Given the description of an element on the screen output the (x, y) to click on. 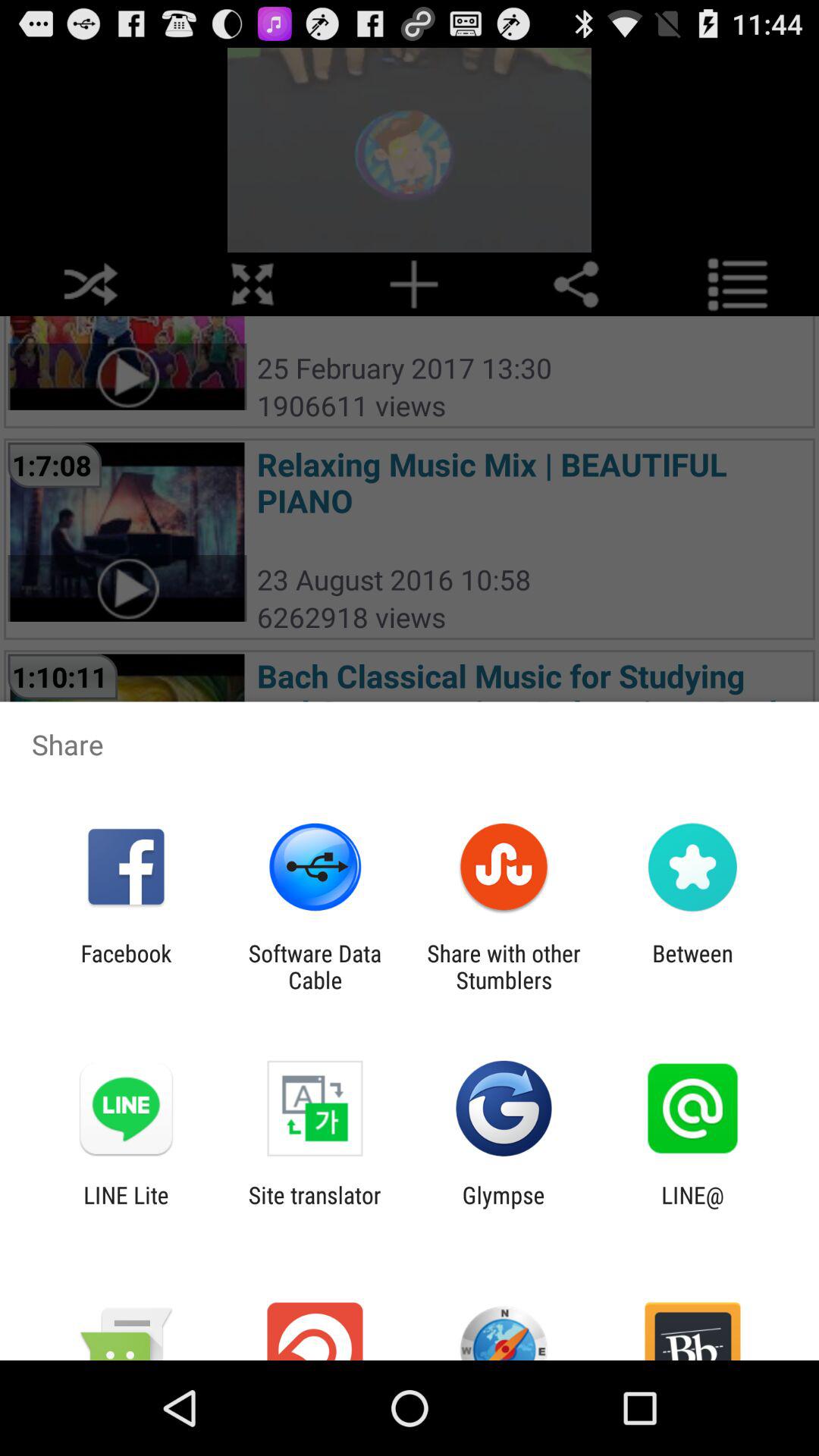
select the item next to software data cable (125, 966)
